Given the description of an element on the screen output the (x, y) to click on. 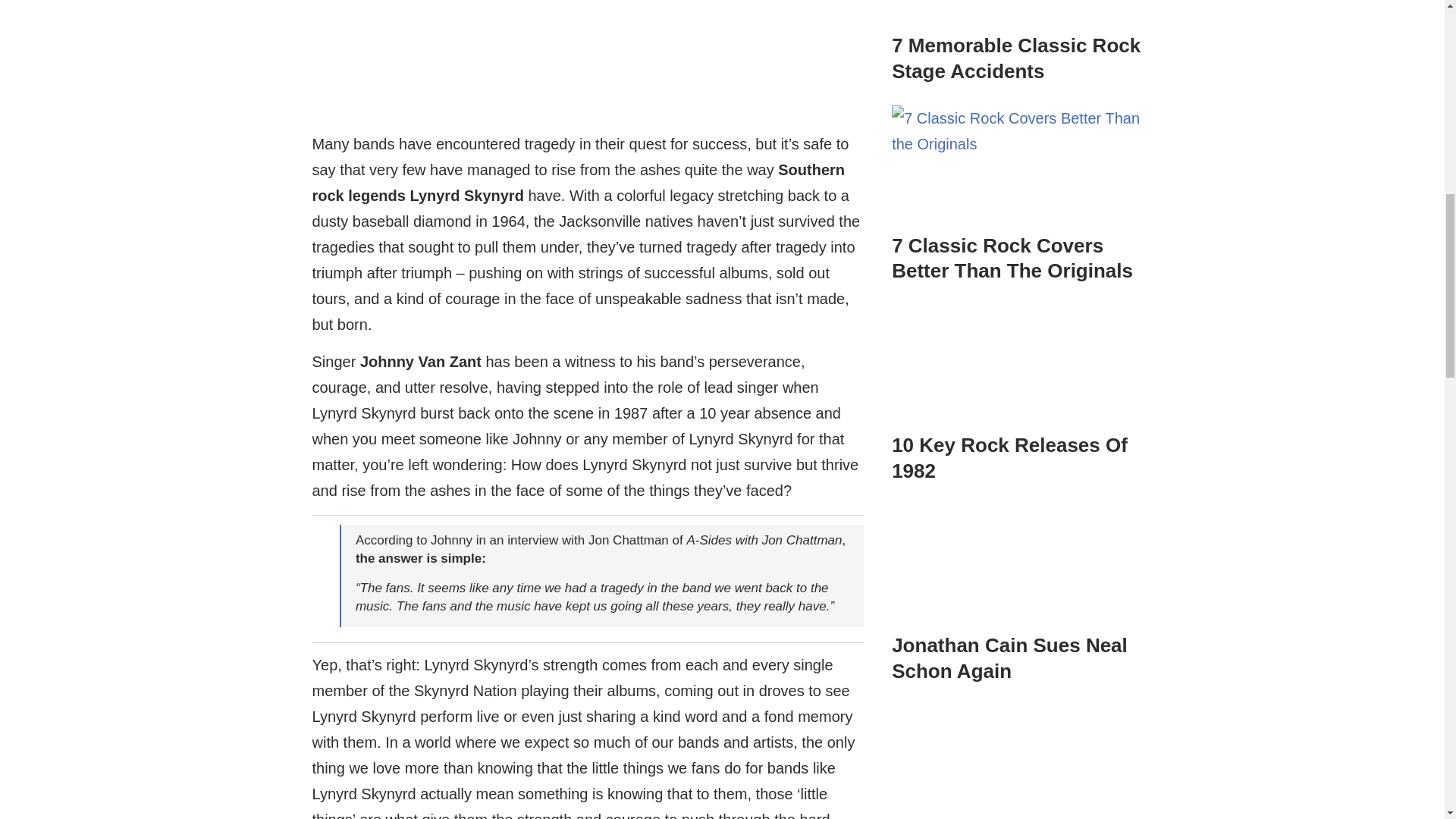
7 Memorable Classic Rock Stage Accidents (1019, 28)
7 Memorable Classic Rock Stage Accidents (1015, 58)
7 Memorable Classic Rock Stage Accidents (1019, 13)
7 Classic Rock Covers Better Than the Originals (1019, 189)
7 Classic Rock Covers Better Than the Originals (1019, 166)
